Given the description of an element on the screen output the (x, y) to click on. 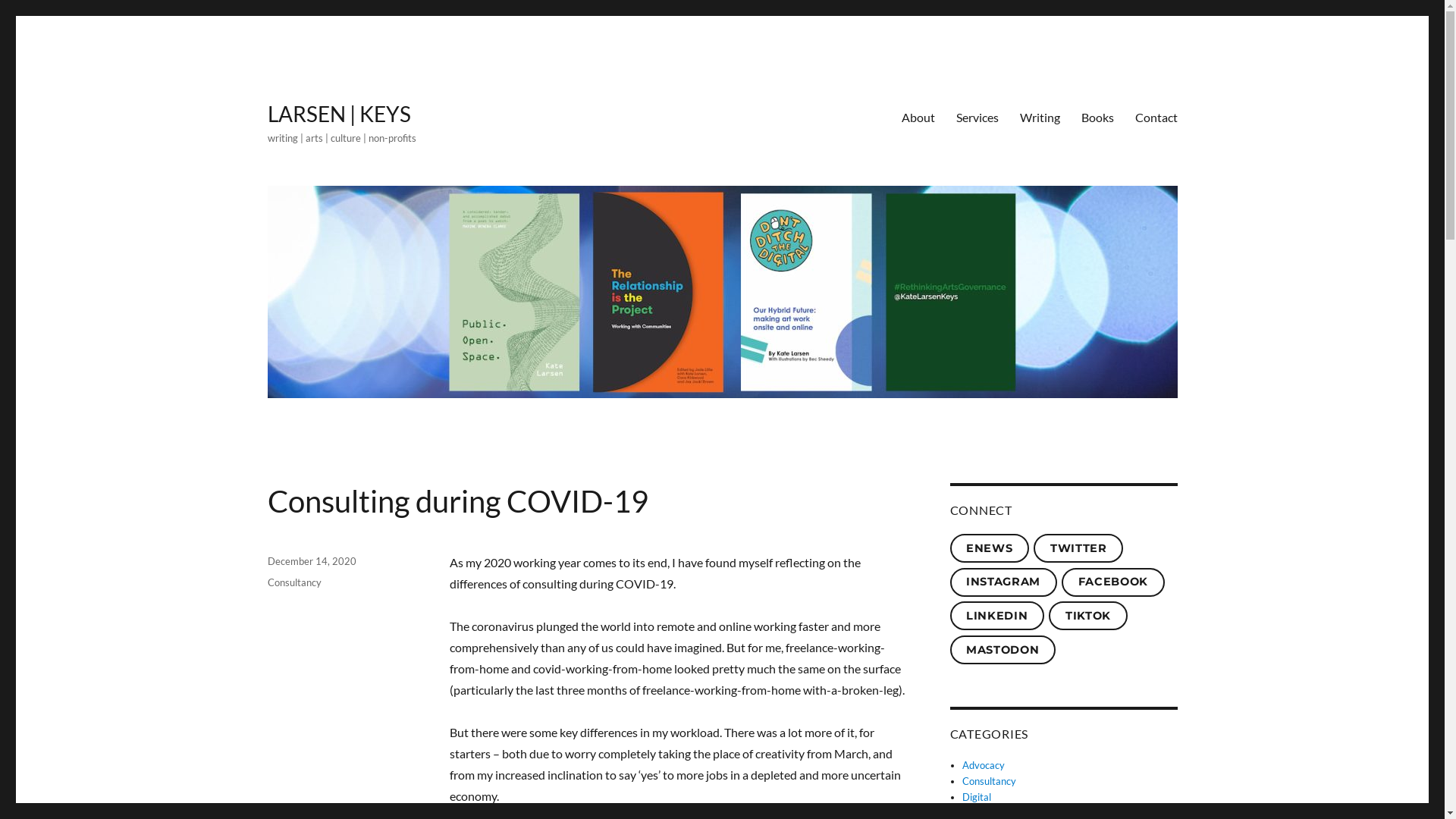
FACEBOOK Element type: text (1112, 581)
Consultancy Element type: text (989, 781)
Advocacy Element type: text (983, 765)
About Element type: text (917, 116)
Contact Element type: text (1155, 116)
Services Element type: text (976, 116)
LARSEN | KEYS Element type: text (338, 113)
LINKEDIN Element type: text (996, 615)
TWITTER Element type: text (1078, 547)
Consultancy Element type: text (293, 582)
Writing Element type: text (1039, 116)
MASTODON Element type: text (1001, 649)
INSTAGRAM Element type: text (1002, 581)
Books Element type: text (1097, 116)
ENEWS Element type: text (988, 547)
December 14, 2020 Element type: text (310, 561)
TIKTOK Element type: text (1087, 615)
Digital Element type: text (976, 796)
